Given the description of an element on the screen output the (x, y) to click on. 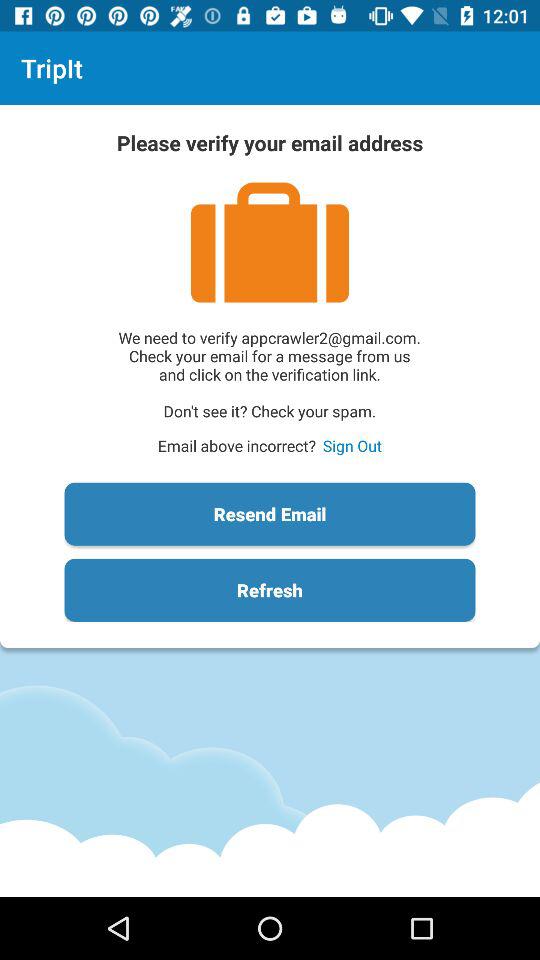
swipe to refresh icon (269, 589)
